Given the description of an element on the screen output the (x, y) to click on. 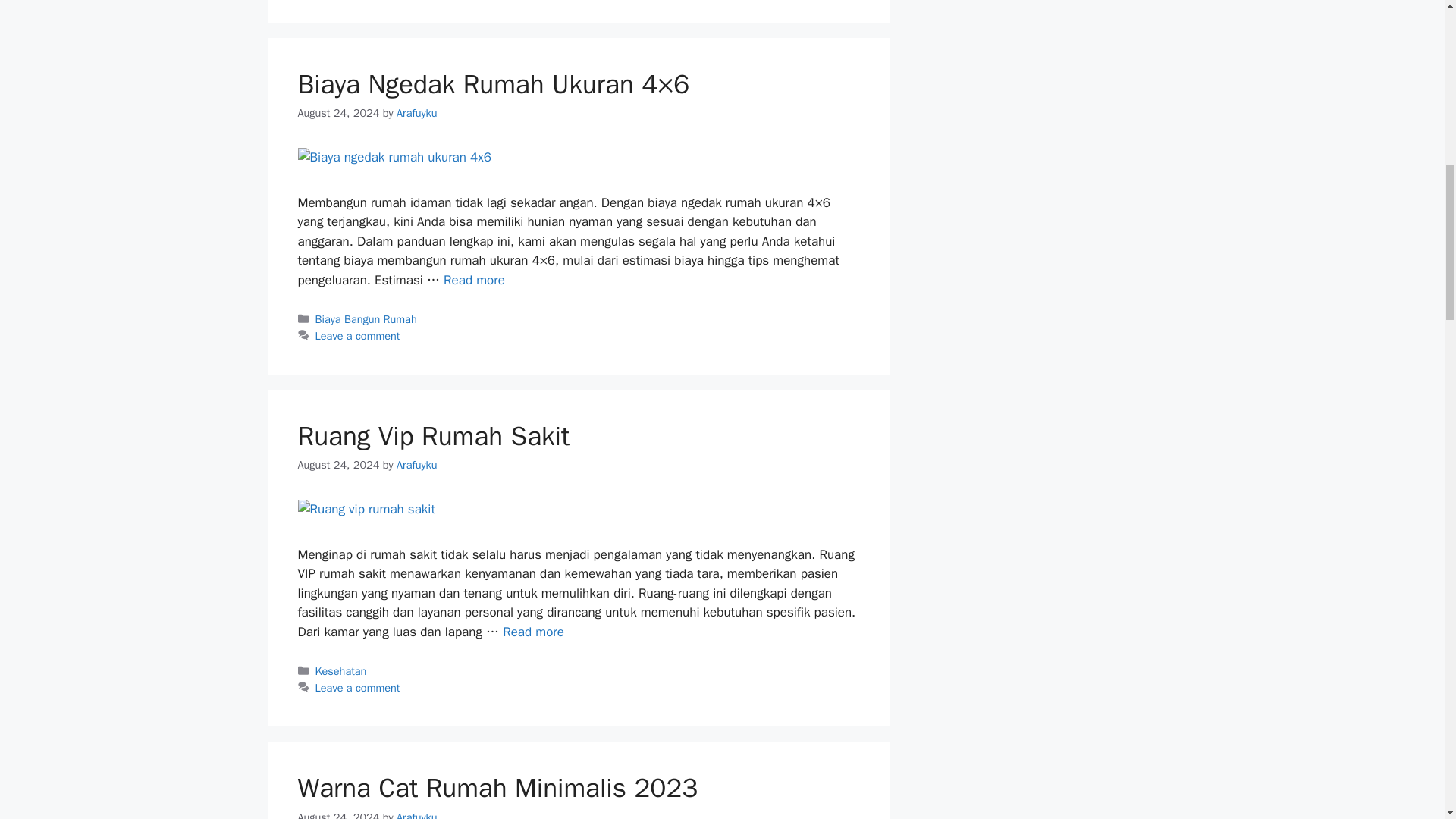
Arafuyku (417, 464)
View all posts by Arafuyku (417, 464)
Read more (533, 631)
Warna Cat Rumah Minimalis 2023 (497, 787)
Biaya Bangun Rumah (365, 318)
Ruang Vip Rumah Sakit (433, 435)
Arafuyku (417, 112)
Kesehatan (340, 671)
View all posts by Arafuyku (417, 112)
Arafuyku (417, 814)
